Given the description of an element on the screen output the (x, y) to click on. 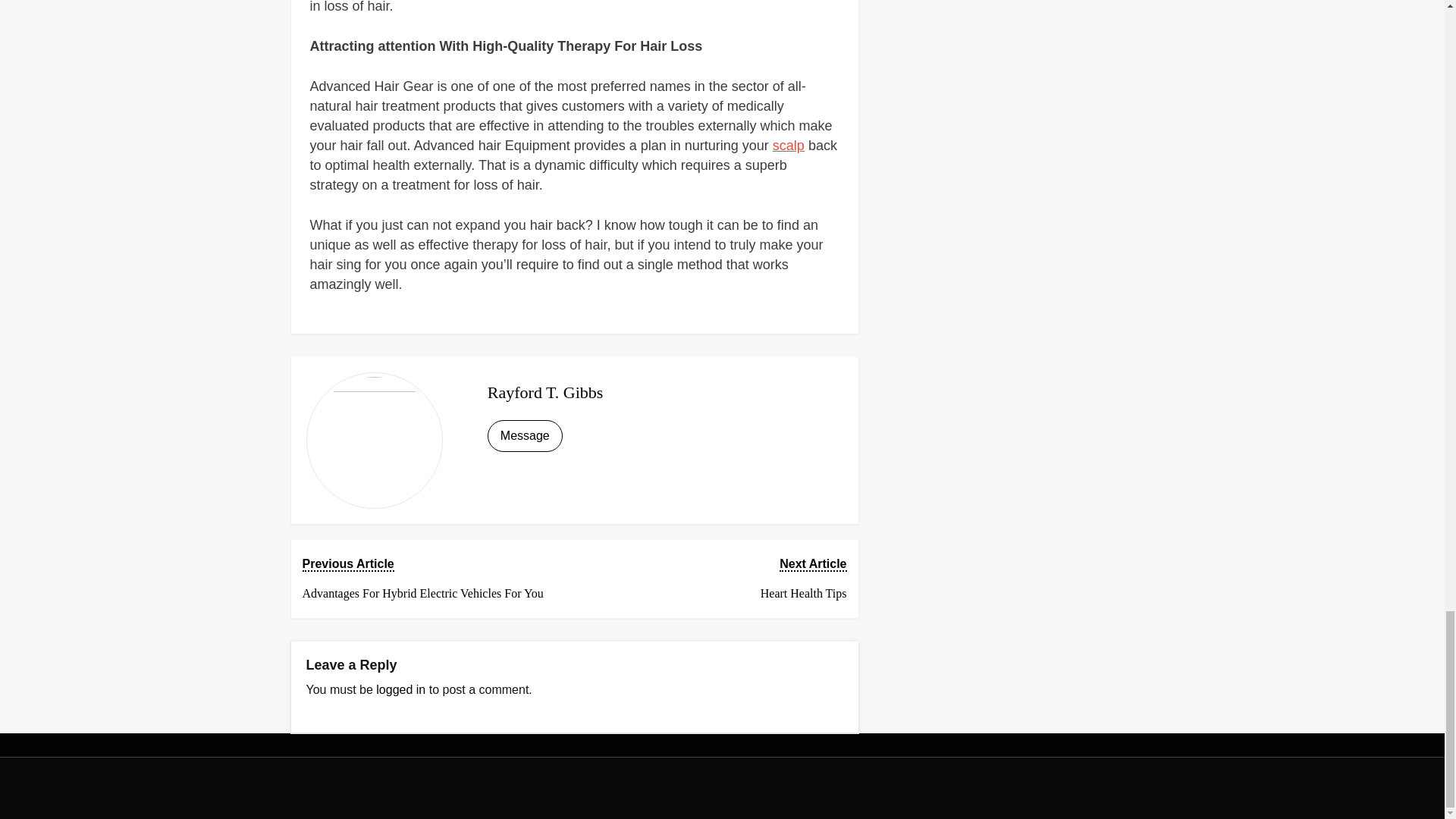
scalp (789, 145)
Message (524, 436)
logged in (715, 578)
Rayford T. Gibbs (400, 689)
Posts by Rayford T. Gibbs (545, 392)
